Given the description of an element on the screen output the (x, y) to click on. 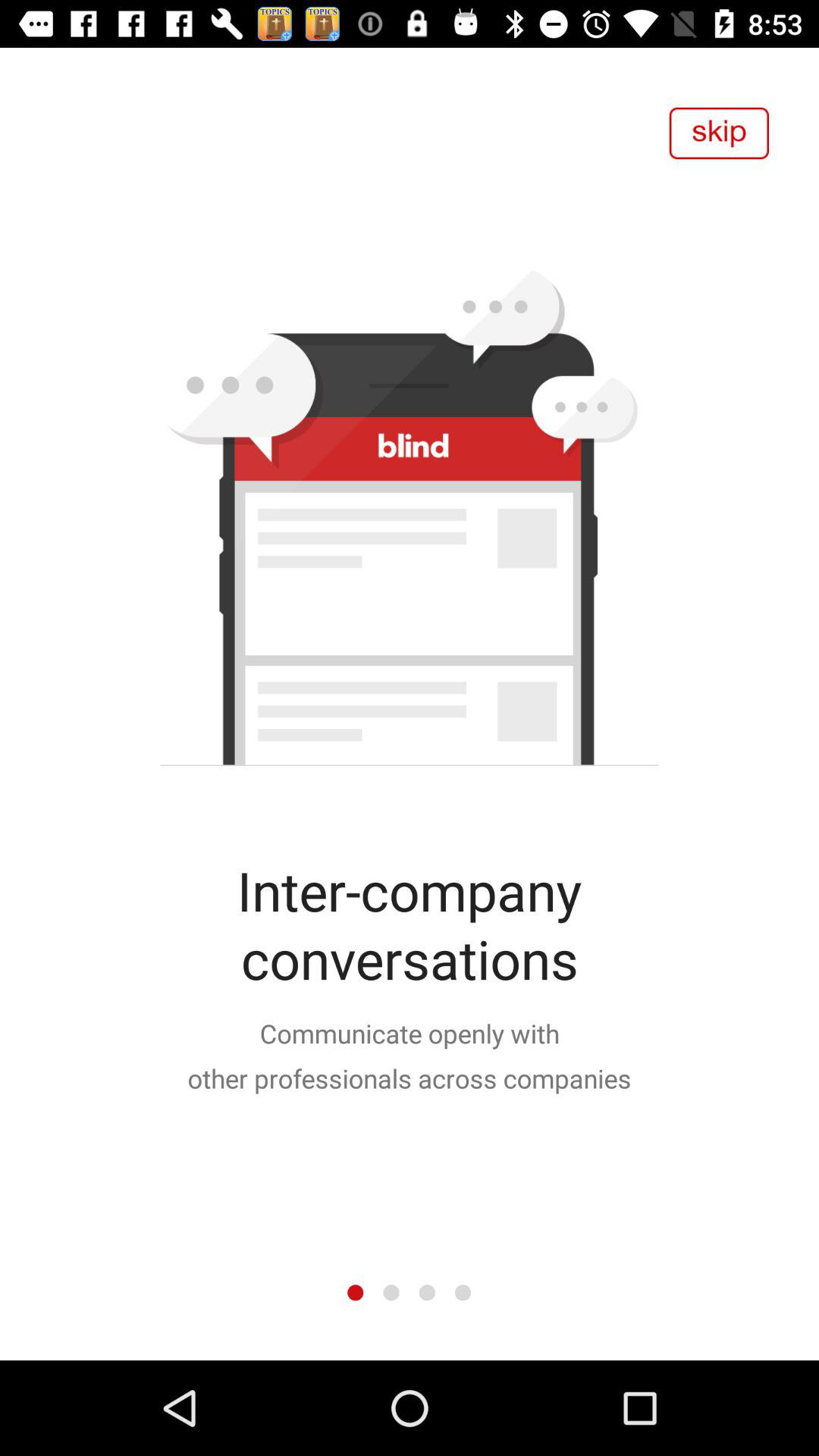
open item above the inter-company
conversations (718, 133)
